Given the description of an element on the screen output the (x, y) to click on. 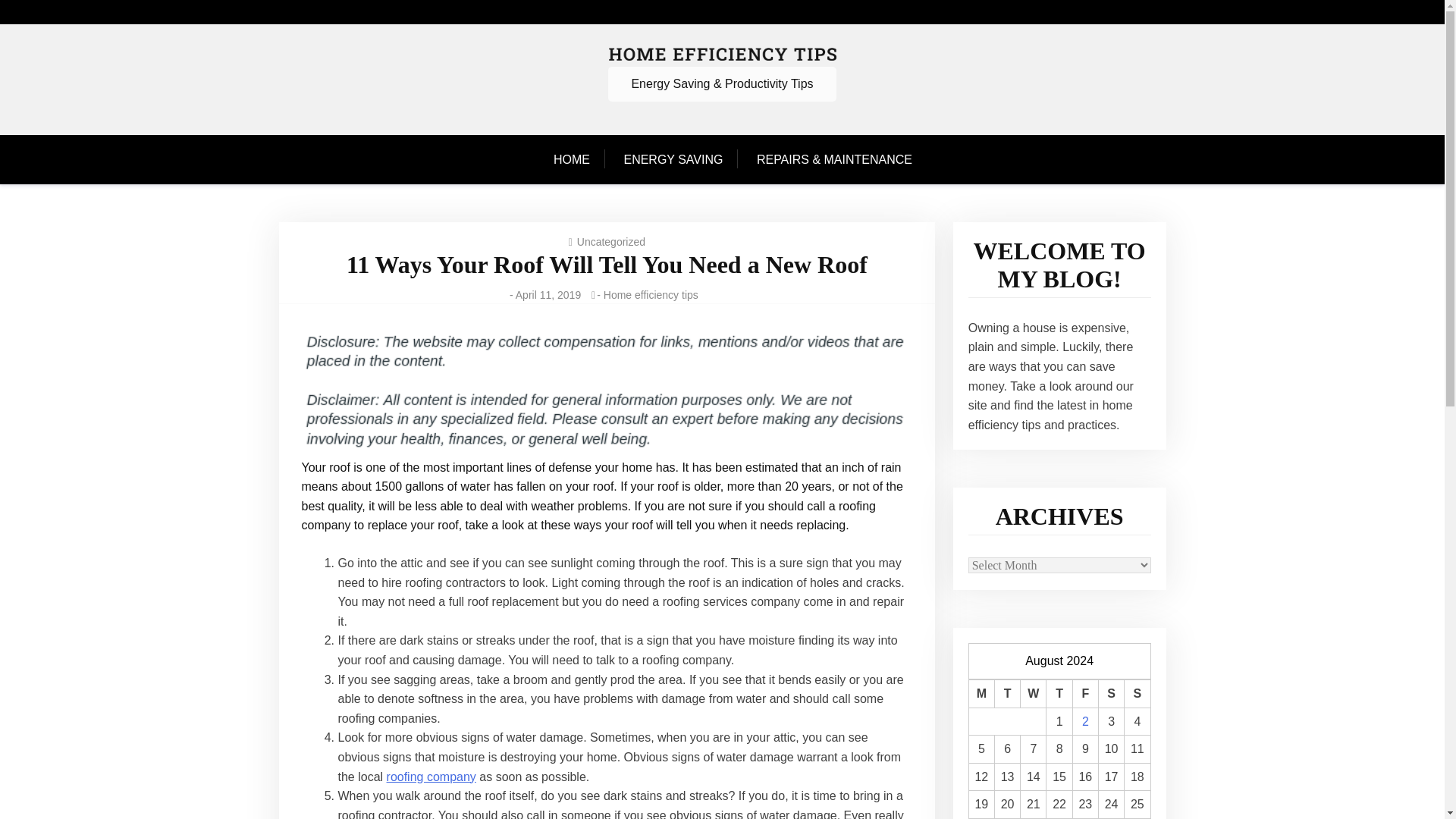
Tuesday (1007, 694)
roofing company (431, 776)
Friday (1084, 694)
Saturday (1110, 694)
HOME (579, 160)
Thursday (1058, 694)
ENERGY SAVING (673, 160)
Sunday (1137, 694)
Monday (981, 694)
Uncategorized (610, 241)
